Given the description of an element on the screen output the (x, y) to click on. 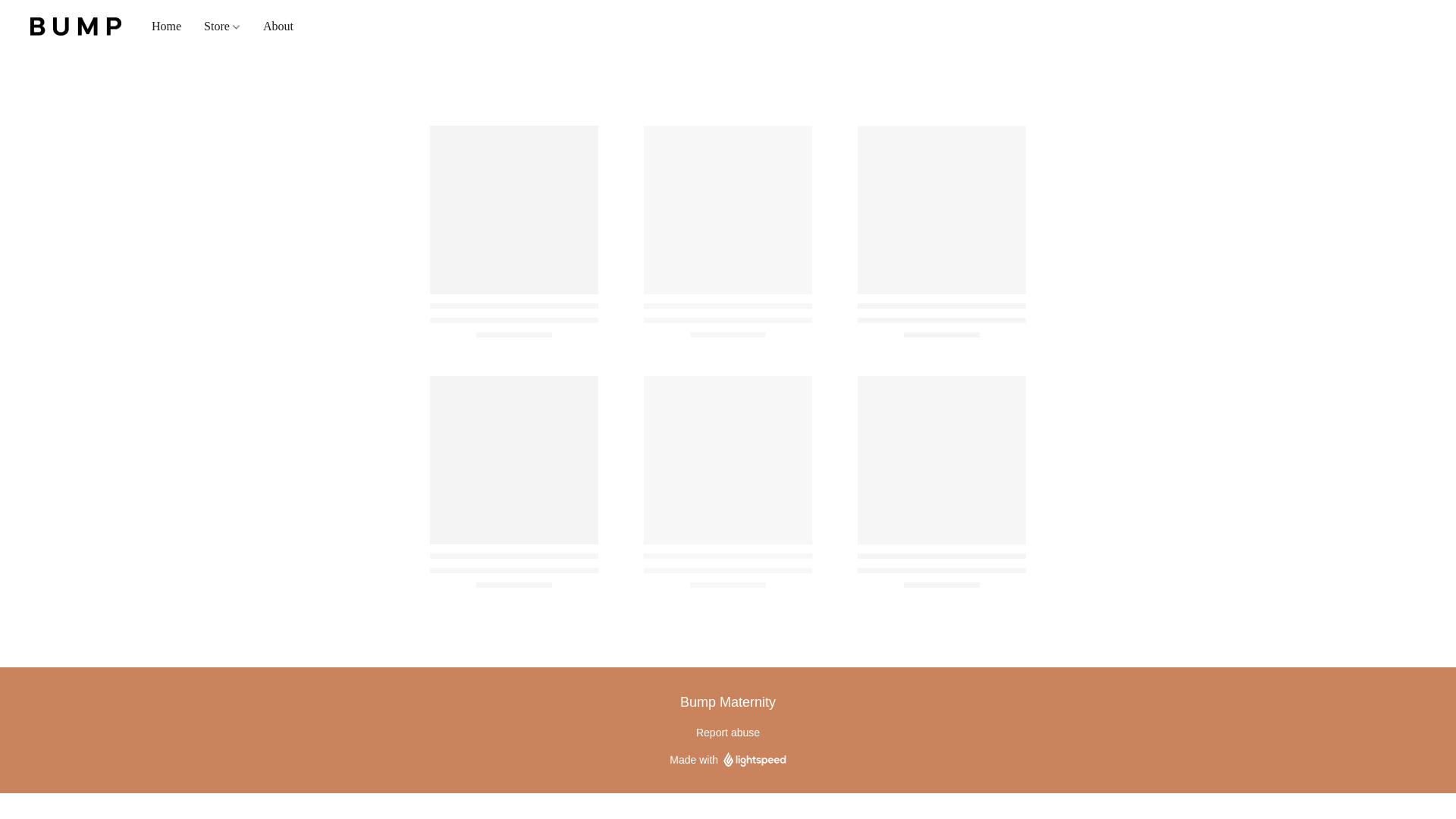
Go to your shopping cart (1416, 26)
About (272, 26)
Report abuse (727, 732)
Store (221, 26)
Home (171, 26)
Search the website (1334, 26)
Made with (727, 760)
